Given the description of an element on the screen output the (x, y) to click on. 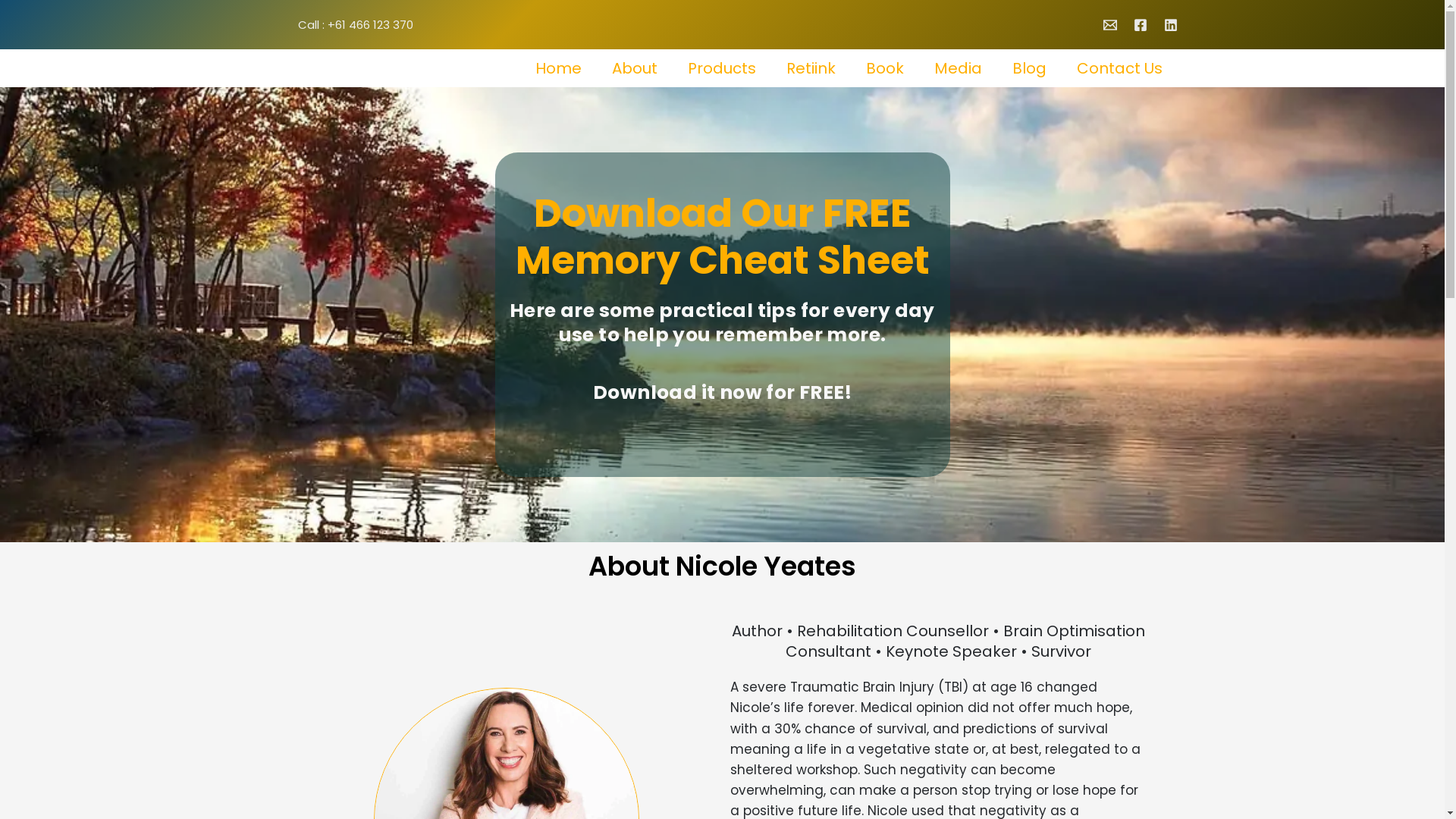
Products Element type: text (720, 68)
Blog Element type: text (1028, 68)
Retiink Element type: text (810, 68)
Media Element type: text (958, 68)
Contact Us Element type: text (1119, 68)
Call : +61 466 123 370 Element type: text (354, 24)
Book Element type: text (884, 68)
About Element type: text (633, 68)
Home Element type: text (558, 68)
